Given the description of an element on the screen output the (x, y) to click on. 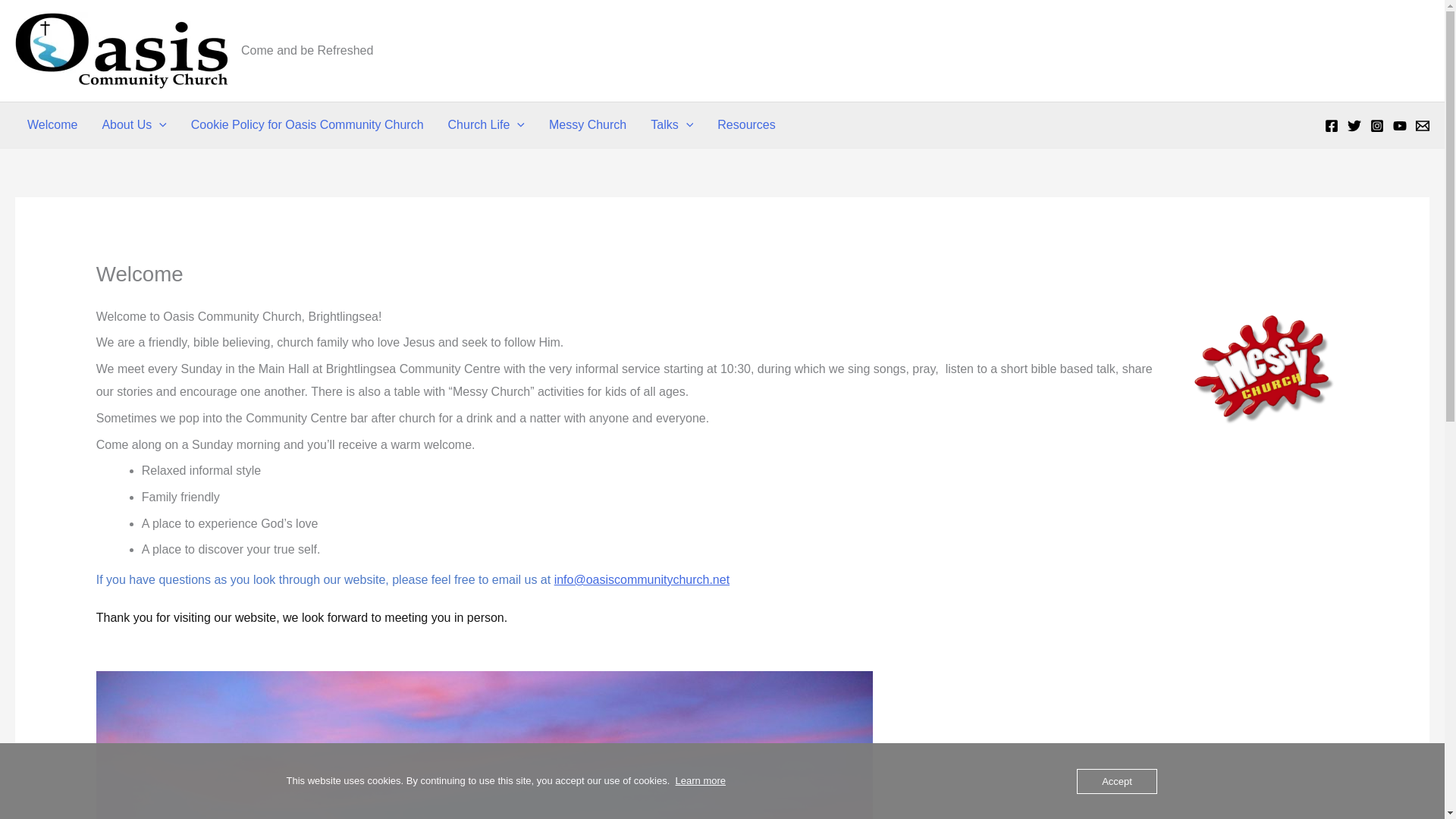
Cookie Policy for Oasis Community Church (307, 125)
Talks (671, 125)
Messy Church (588, 125)
Church Life (486, 125)
Welcome (51, 125)
Resources (745, 125)
About Us (132, 125)
